Given the description of an element on the screen output the (x, y) to click on. 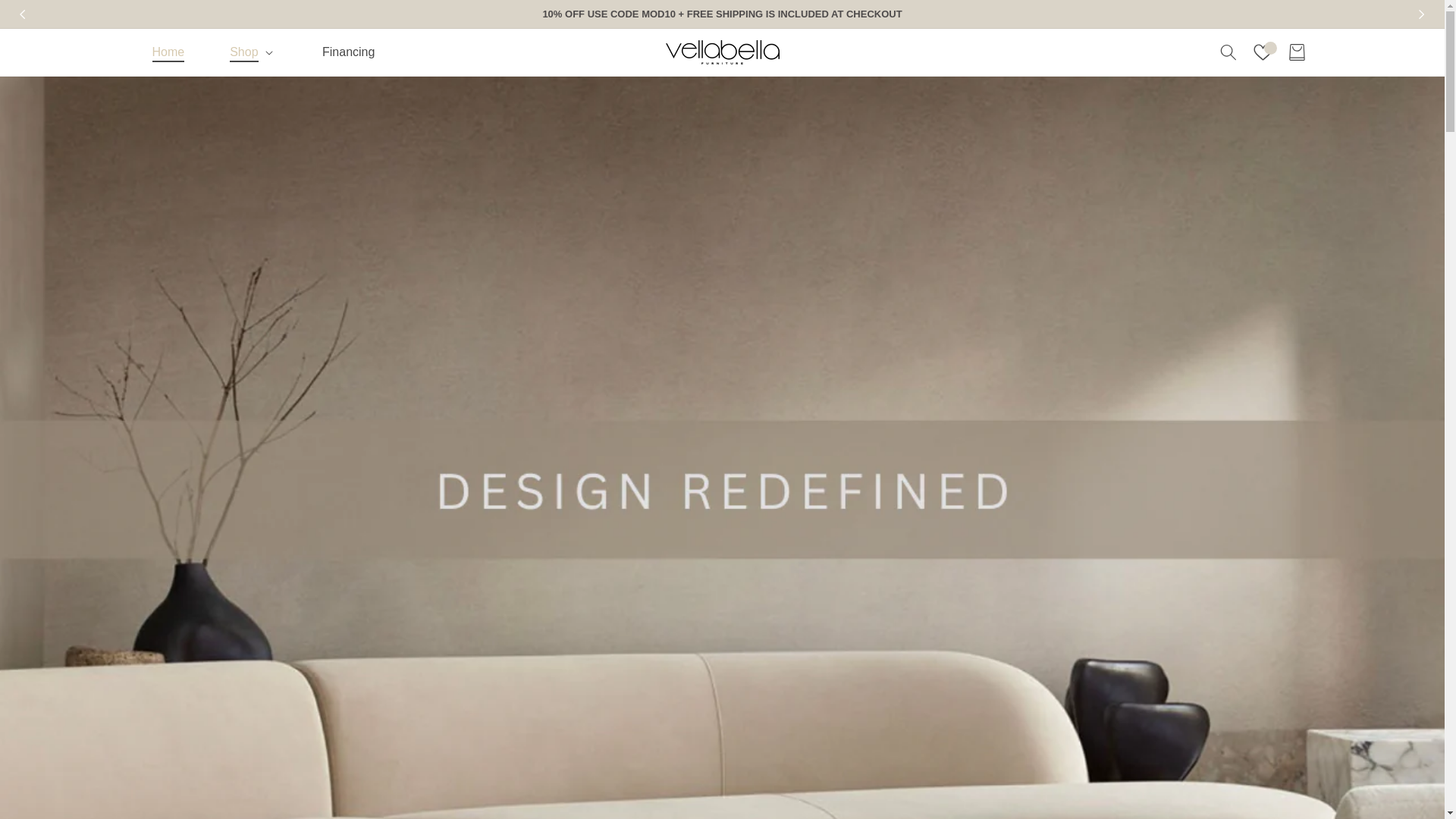
Cart (1296, 52)
SKIP TO CONTENT (45, 18)
Financing (348, 52)
Home (167, 52)
